Given the description of an element on the screen output the (x, y) to click on. 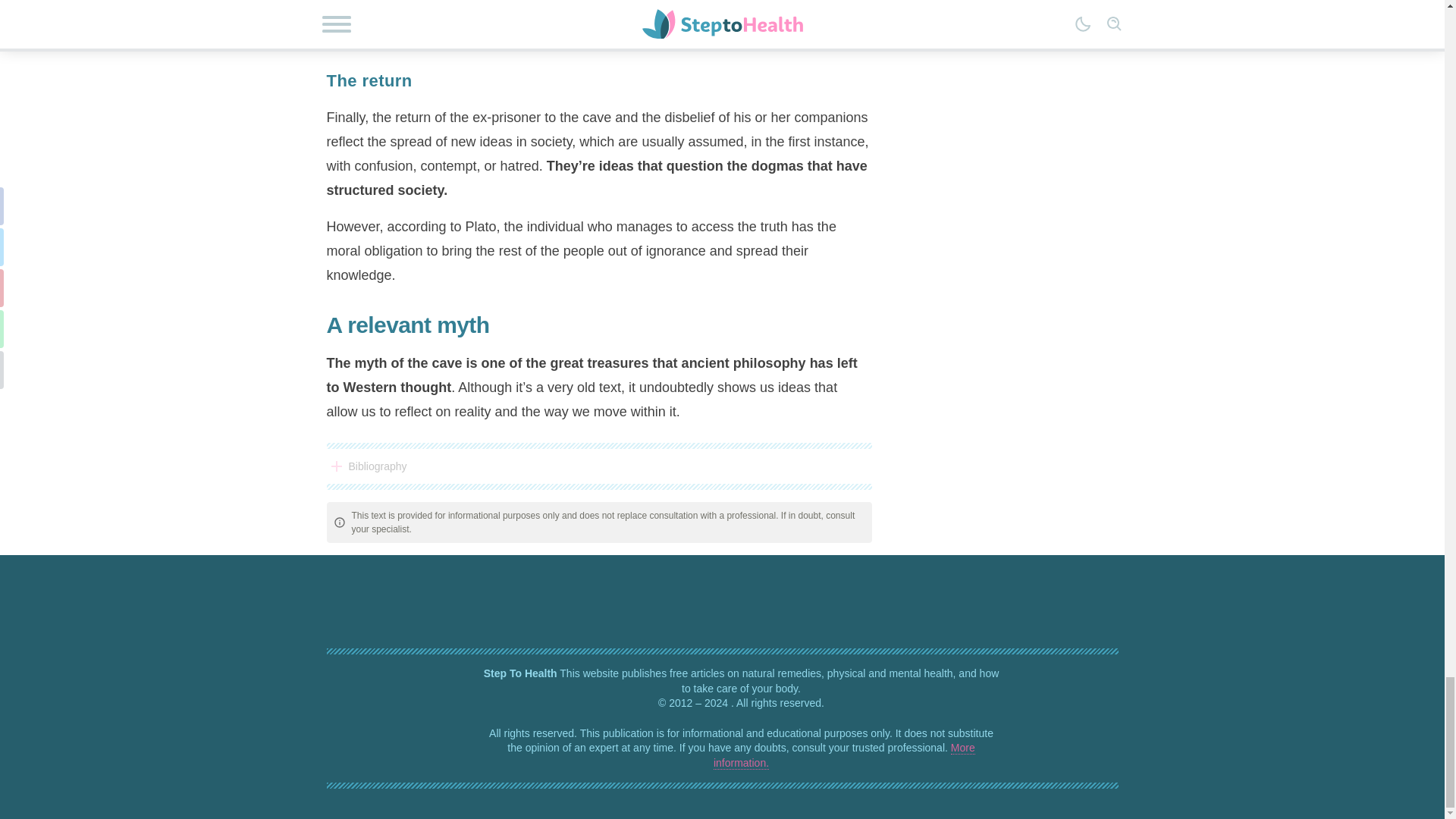
More information. (844, 755)
Bibliography (598, 466)
